Given the description of an element on the screen output the (x, y) to click on. 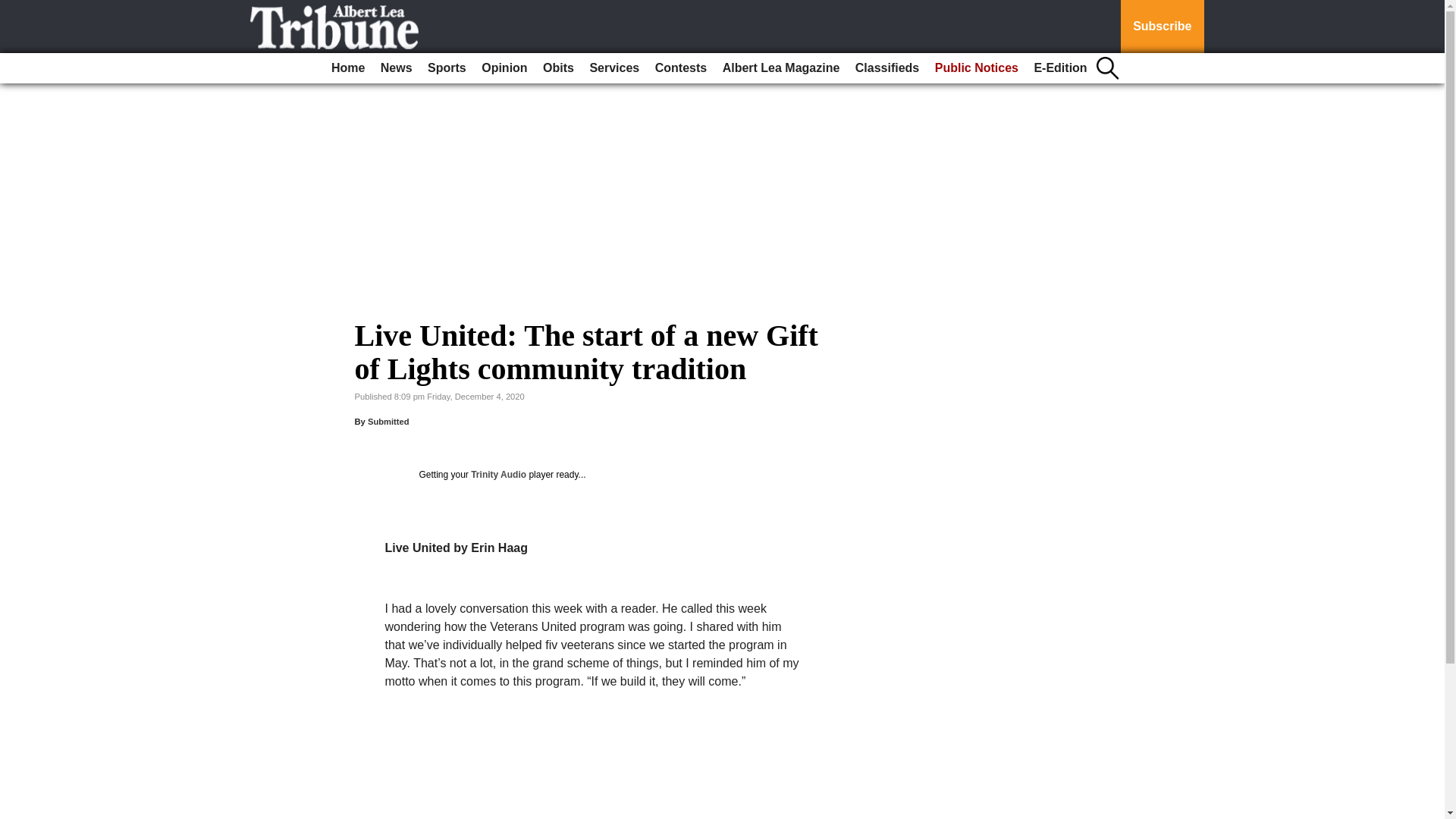
Sports (446, 68)
Opinion (504, 68)
Obits (558, 68)
Subscribe (1162, 26)
News (396, 68)
Home (347, 68)
Services (614, 68)
